Given the description of an element on the screen output the (x, y) to click on. 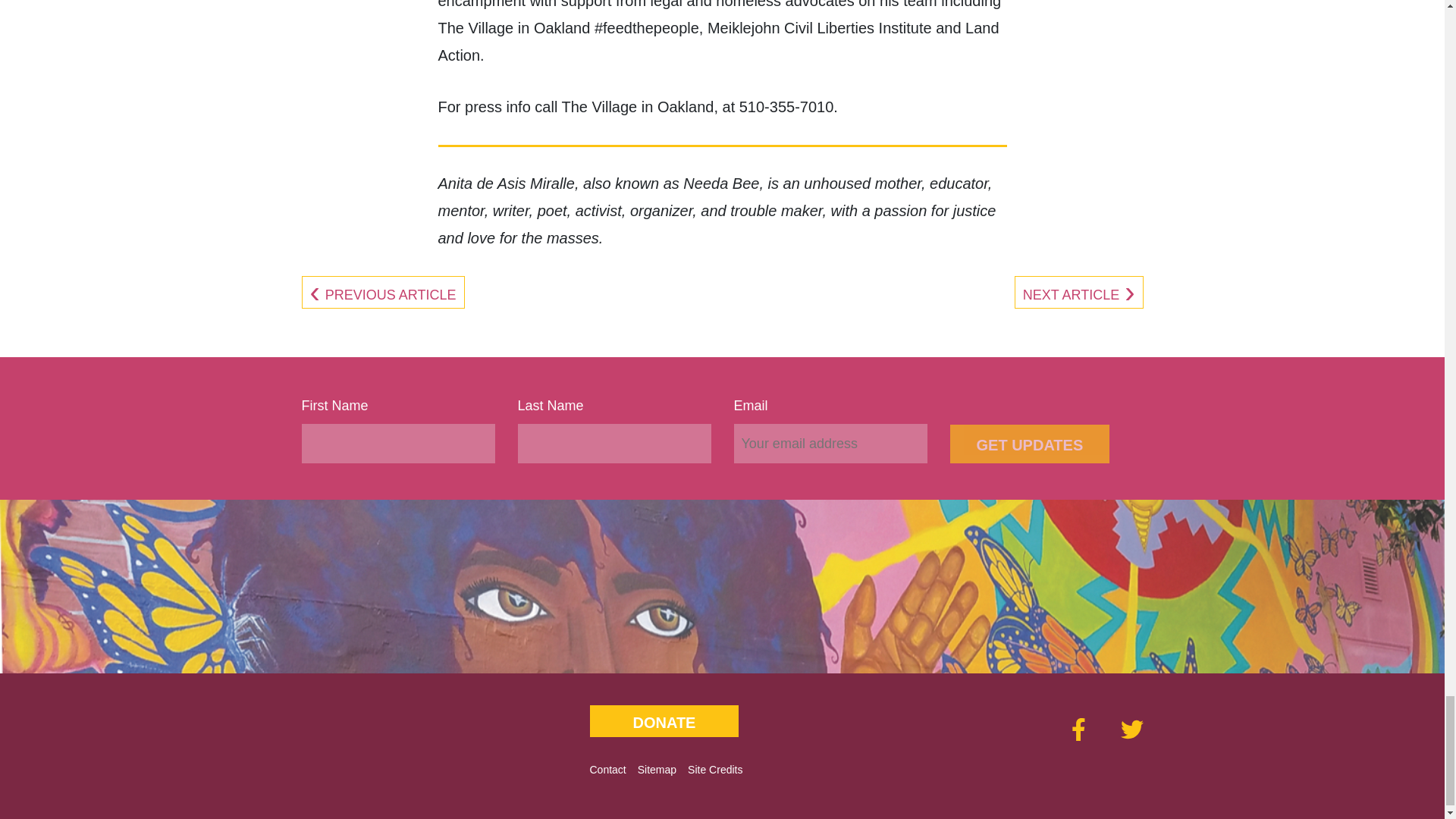
Get Updates (1029, 444)
Contact (607, 769)
Get Updates (1029, 444)
DONATE (664, 721)
PREVIOUS ARTICLE (381, 294)
NEXT ARTICLE (1079, 294)
